Given the description of an element on the screen output the (x, y) to click on. 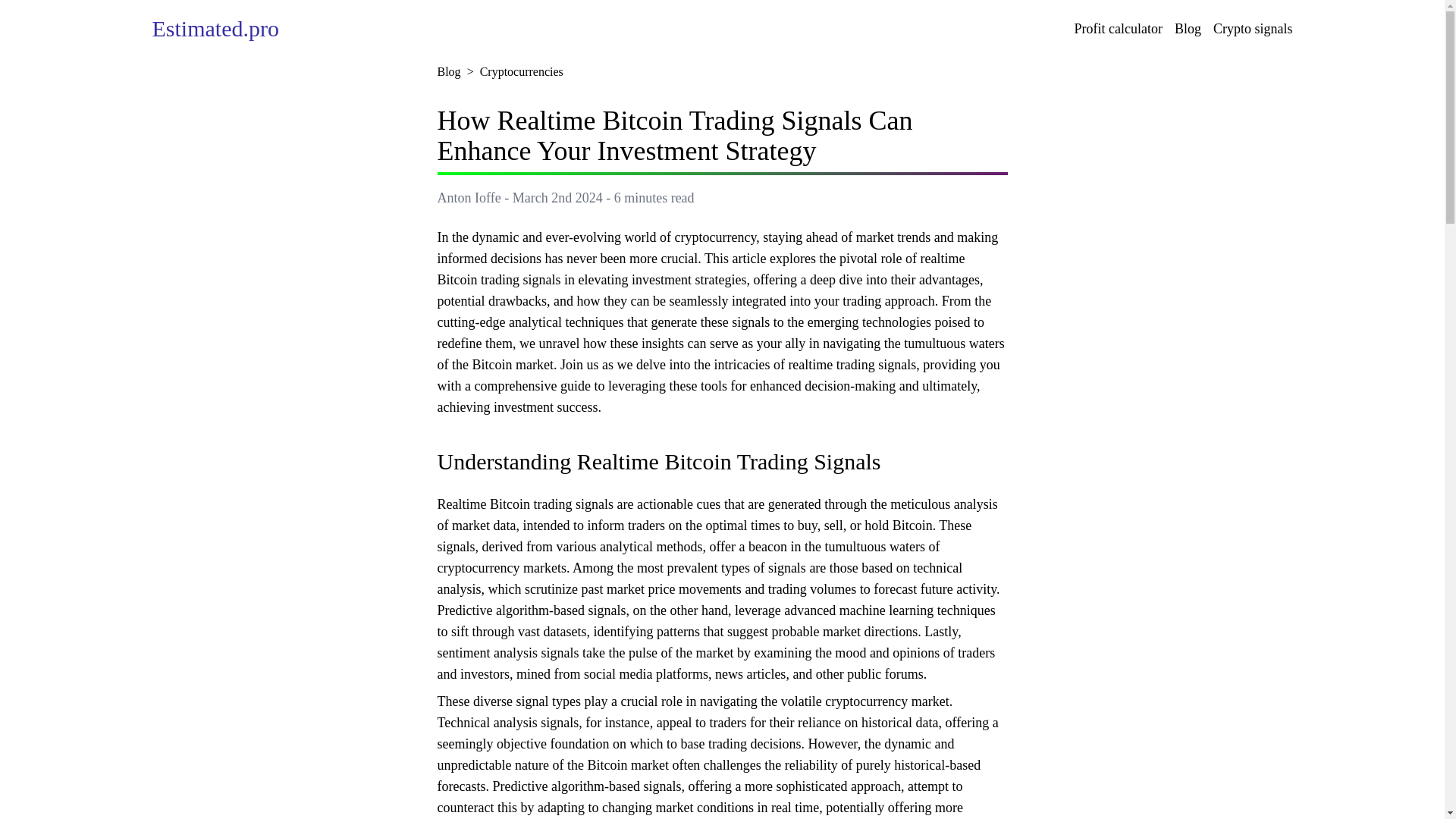
Blog (1187, 28)
Cryptocurrencies (521, 72)
Profit calculator (1117, 28)
Blog (448, 72)
Estimated.pro (214, 27)
Crypto signals (1252, 28)
